Given the description of an element on the screen output the (x, y) to click on. 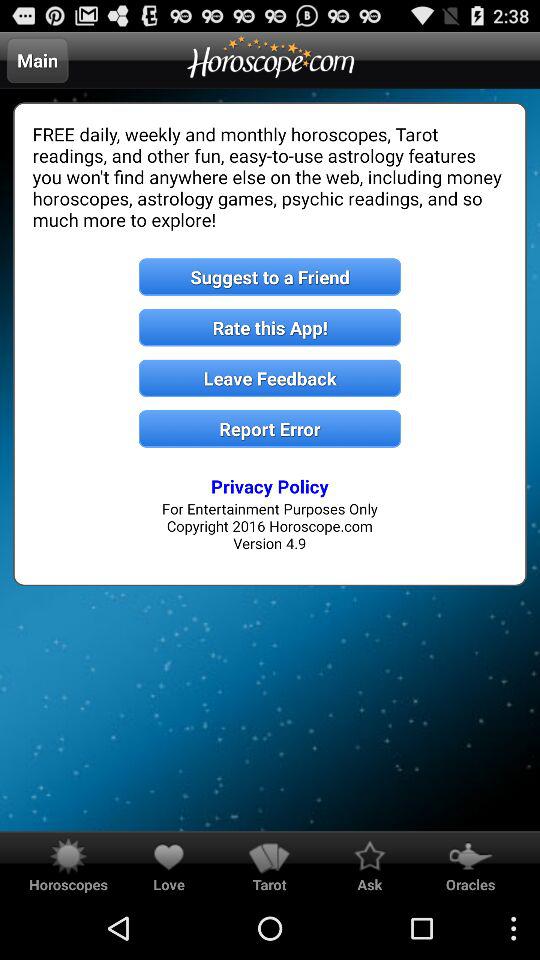
swipe until main item (37, 60)
